Given the description of an element on the screen output the (x, y) to click on. 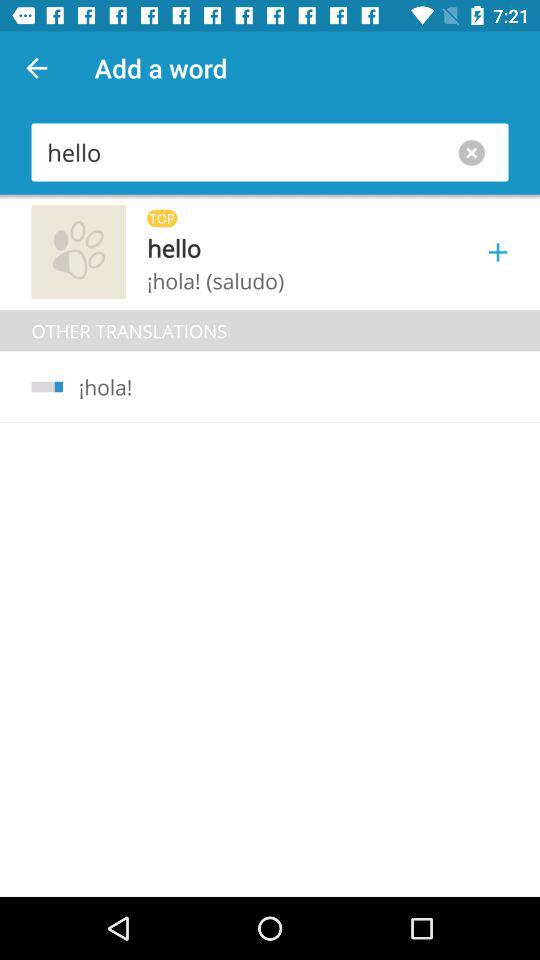
launch icon to the left of add a word app (36, 68)
